Given the description of an element on the screen output the (x, y) to click on. 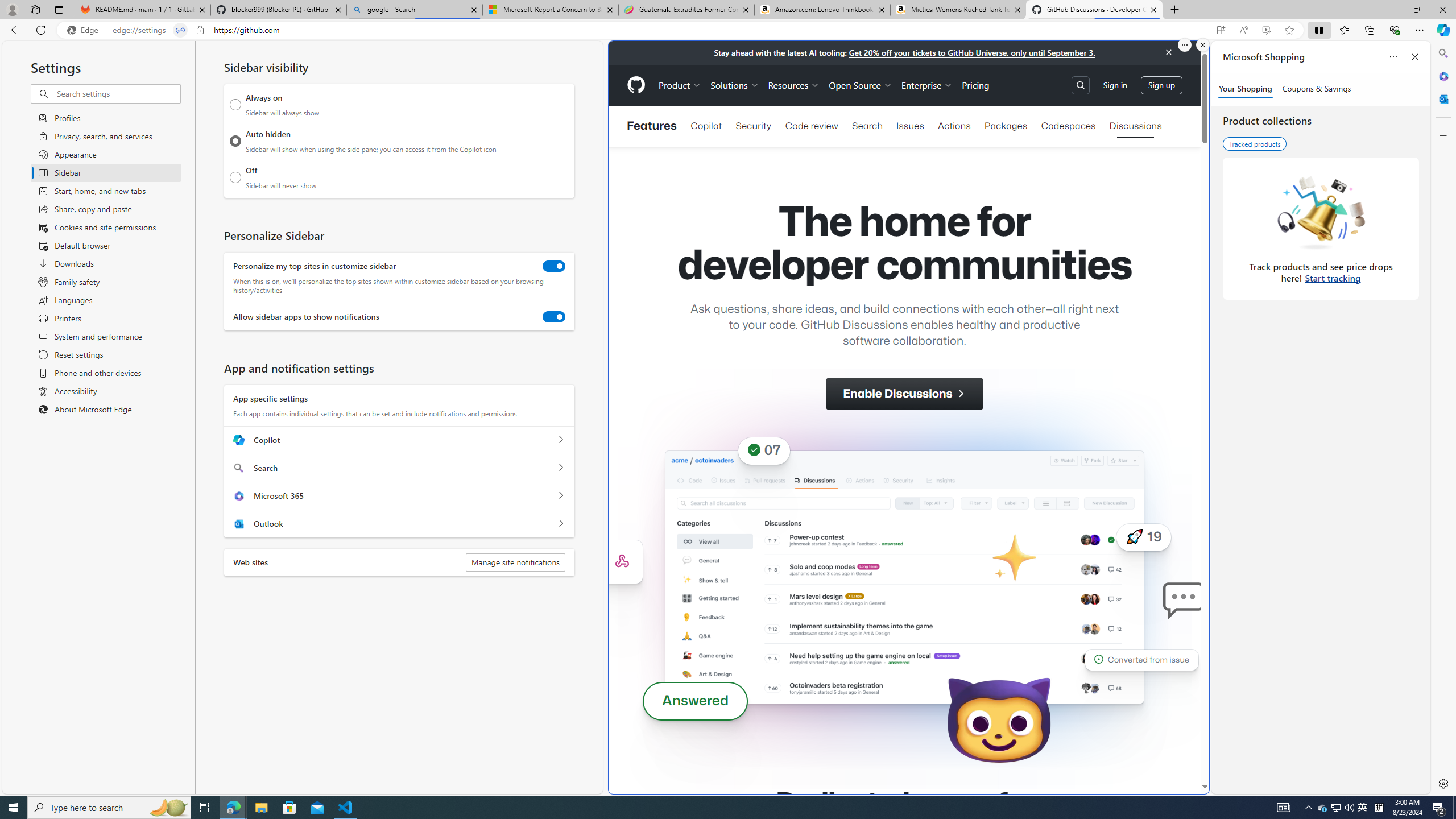
Packages (1005, 125)
Solutions (735, 84)
App available. Install  (1220, 29)
Enhance video (1266, 29)
Resources (793, 84)
